Given the description of an element on the screen output the (x, y) to click on. 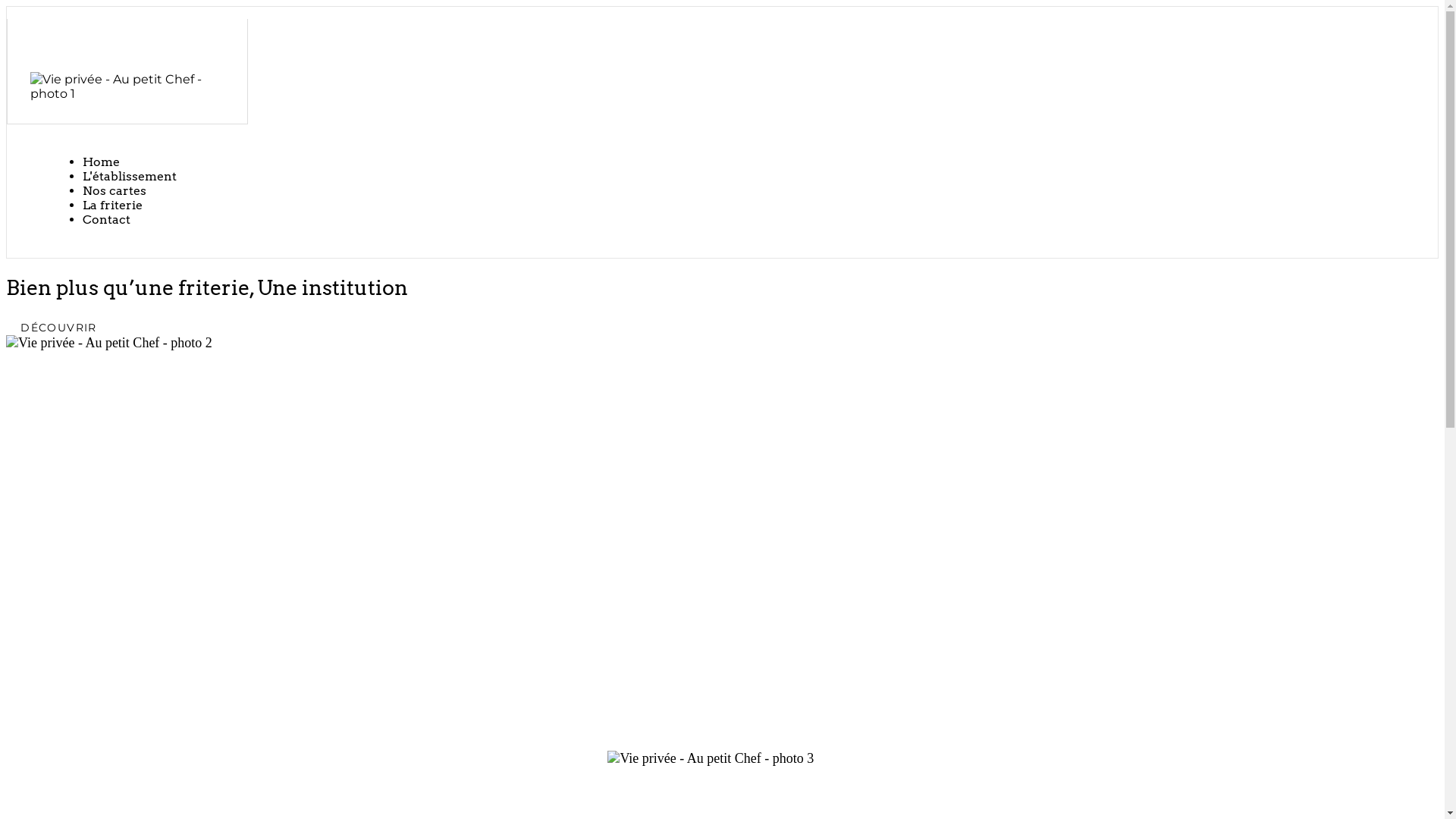
La friterie Element type: text (112, 204)
Nos cartes Element type: text (114, 190)
Contact Element type: text (106, 219)
Home Element type: text (100, 161)
